Given the description of an element on the screen output the (x, y) to click on. 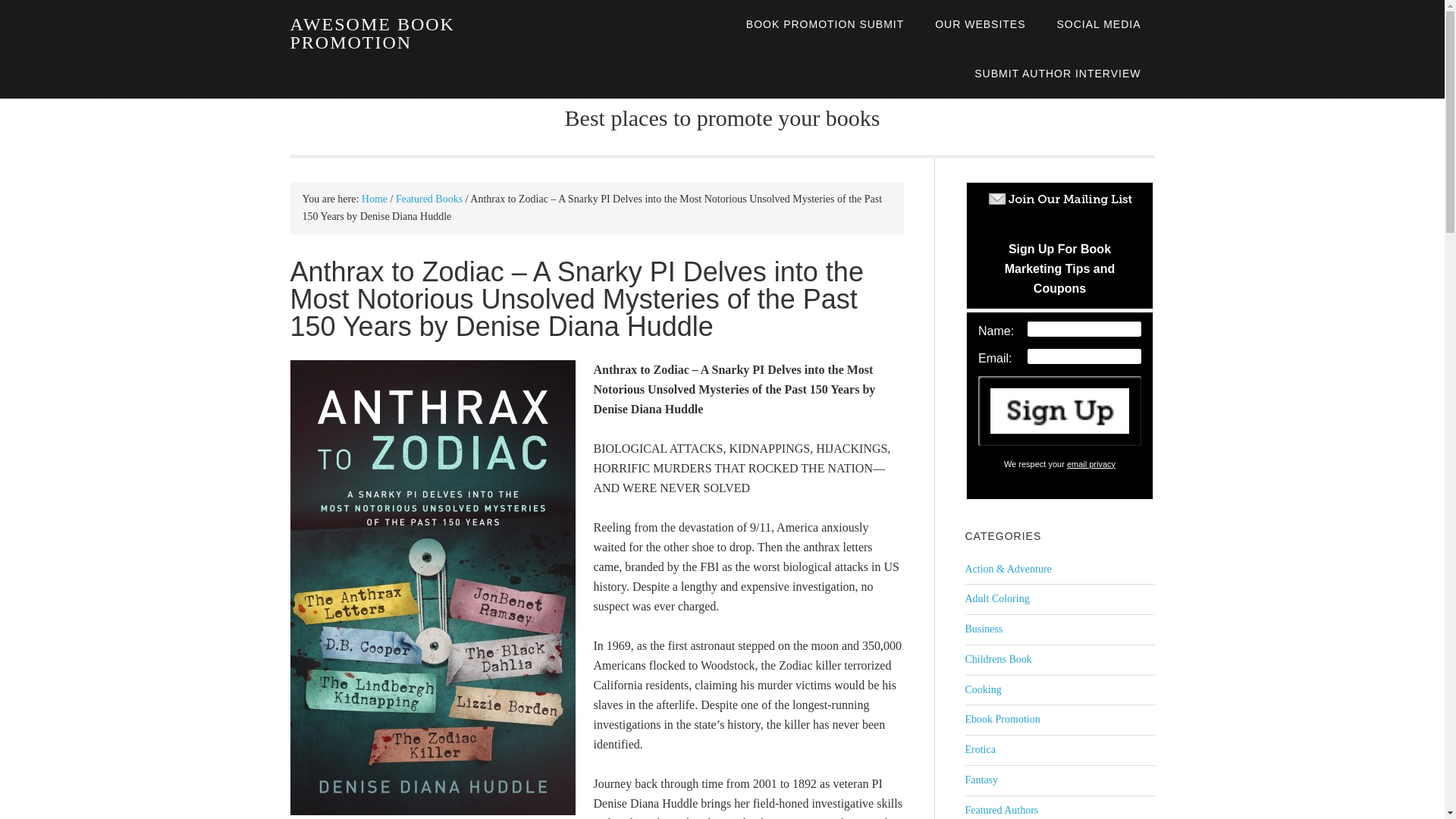
OUR WEBSITES (980, 24)
Erotica (978, 749)
SUBMIT AUTHOR INTERVIEW (1057, 73)
SOCIAL MEDIA (1098, 24)
Business (983, 628)
Adult Coloring (996, 598)
Cooking (982, 689)
Privacy Policy (1091, 463)
Home (374, 198)
Featured Books (429, 198)
Childrens Book (996, 659)
Featured Authors (1000, 809)
BOOK PROMOTION SUBMIT (824, 24)
AWESOME BOOK PROMOTION (371, 33)
Ebook Promotion (1001, 718)
